Given the description of an element on the screen output the (x, y) to click on. 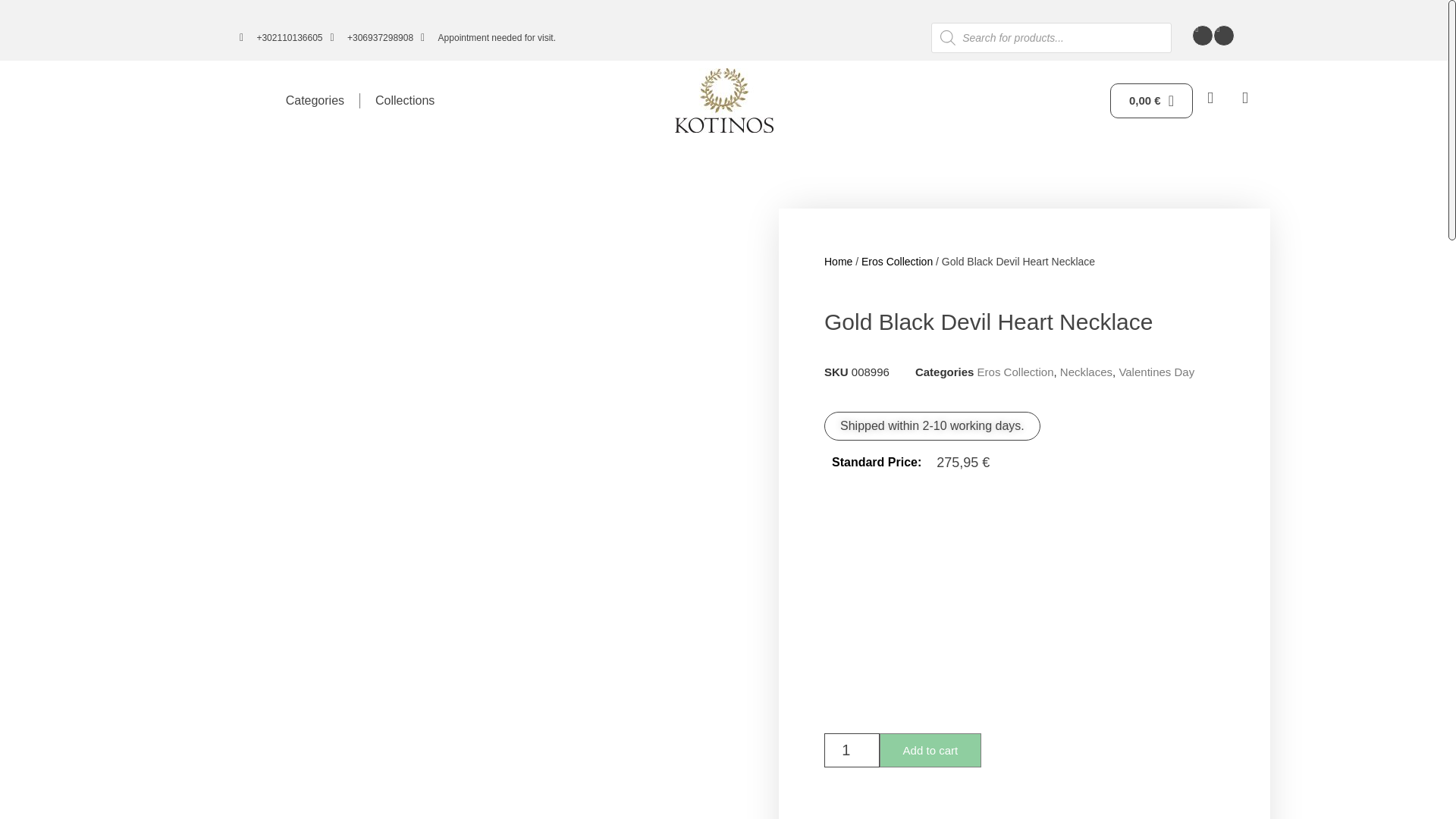
1 (851, 750)
KOTINOS-logo (724, 99)
Appointment needed for visit. (488, 38)
Collections (404, 99)
Categories (314, 99)
